Given the description of an element on the screen output the (x, y) to click on. 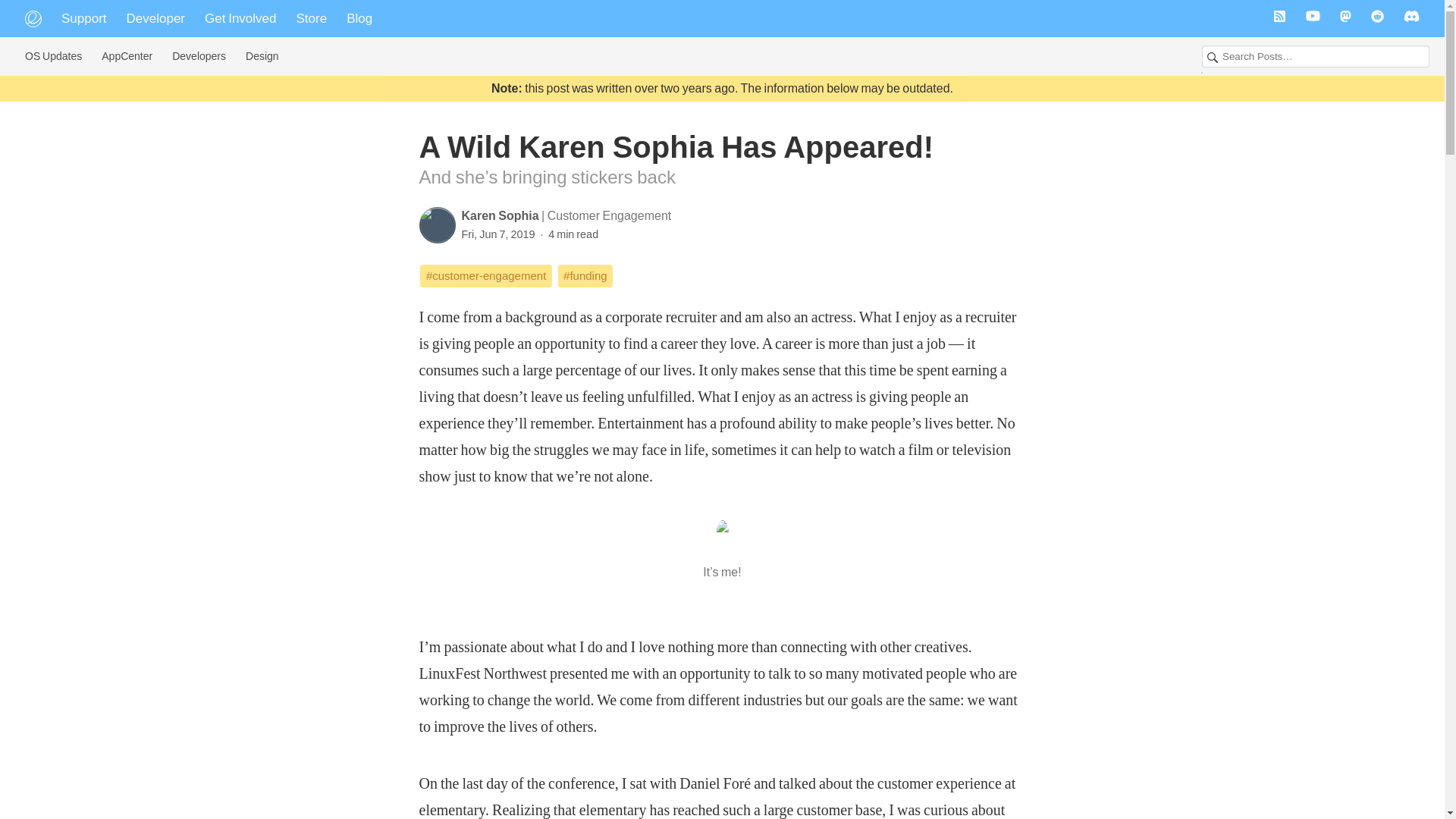
Developer (155, 18)
OS Updates (52, 56)
Discord (1411, 18)
Blog (358, 18)
Get Involved (240, 18)
AppCenter (126, 56)
Karen Sophia (501, 215)
Support (83, 18)
Design (261, 56)
YouTube (1312, 18)
Developers (198, 56)
Estimated read time (567, 234)
Store (311, 18)
